Given the description of an element on the screen output the (x, y) to click on. 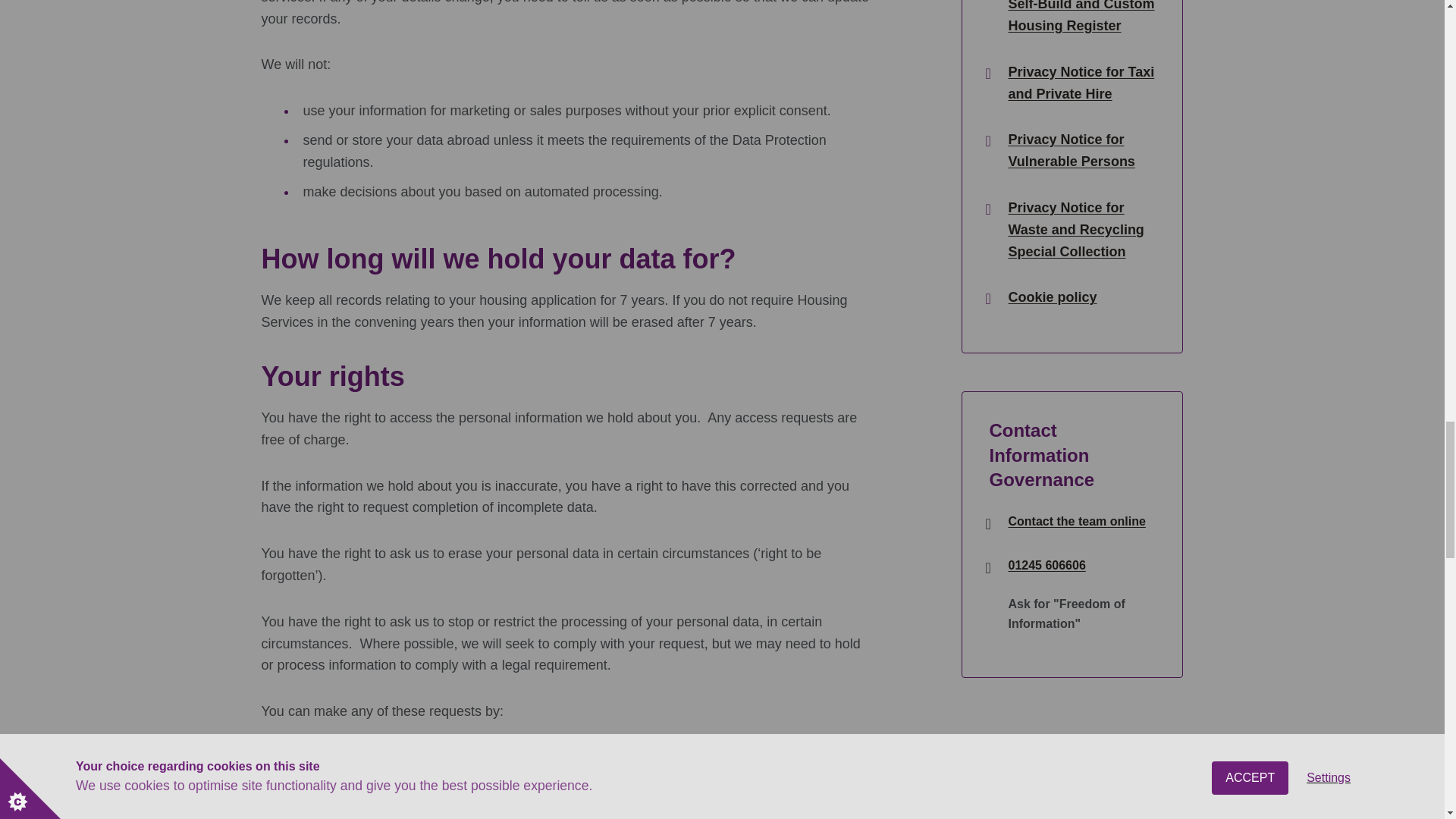
Privacy Notice for Vulnerable Persons (1081, 150)
Privacy Notice for Self-Build and Custom Housing Register (1081, 18)
Contact: Data Team (1075, 521)
Privacy Notice for Waste and Recycling Special Collection (1081, 229)
Privacy Notice for Taxi and Private Hire (1081, 83)
Cookie policy (1051, 297)
